Given the description of an element on the screen output the (x, y) to click on. 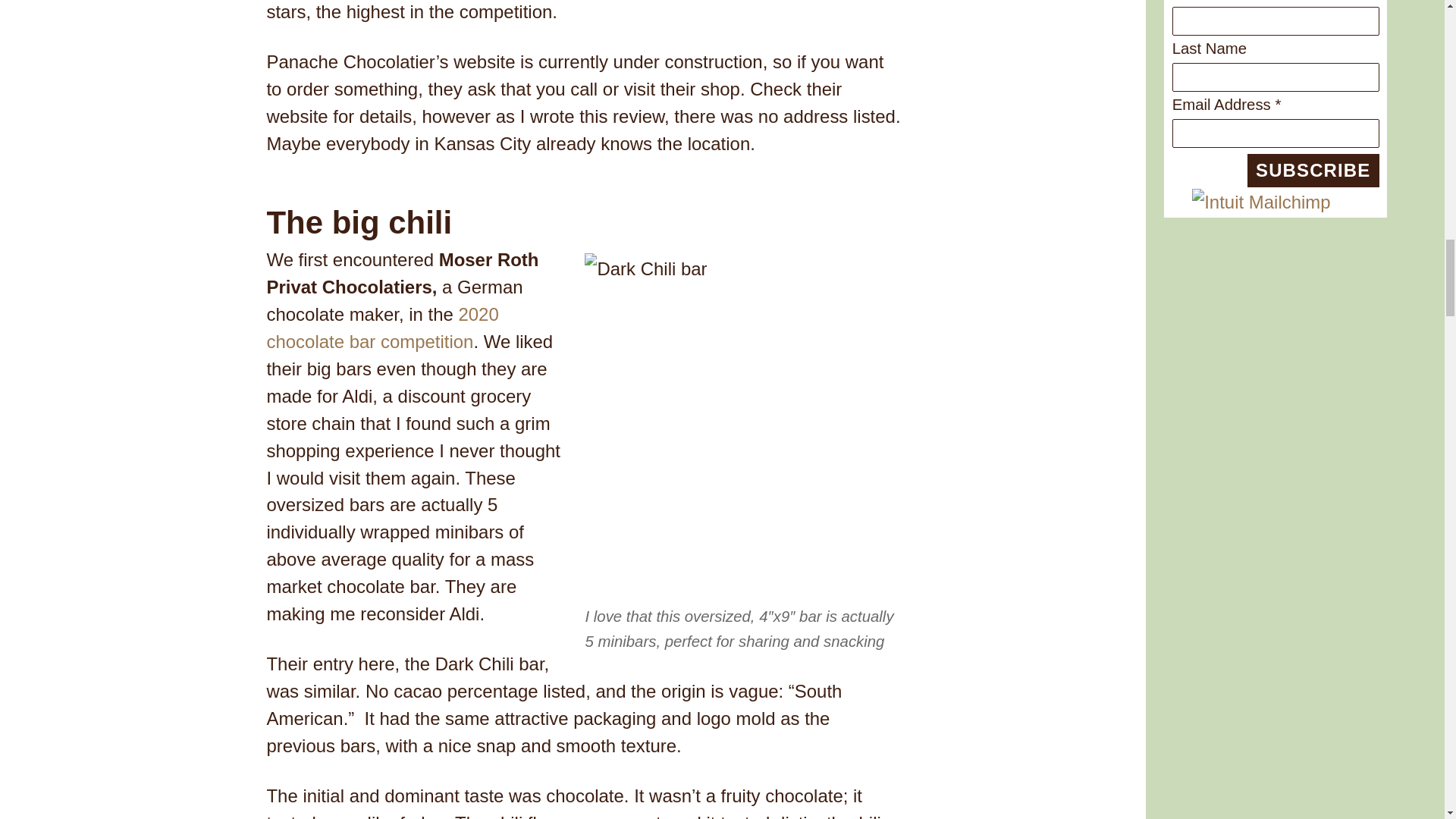
2020 chocolate bar competition (381, 327)
Subscribe (1312, 169)
